Given the description of an element on the screen output the (x, y) to click on. 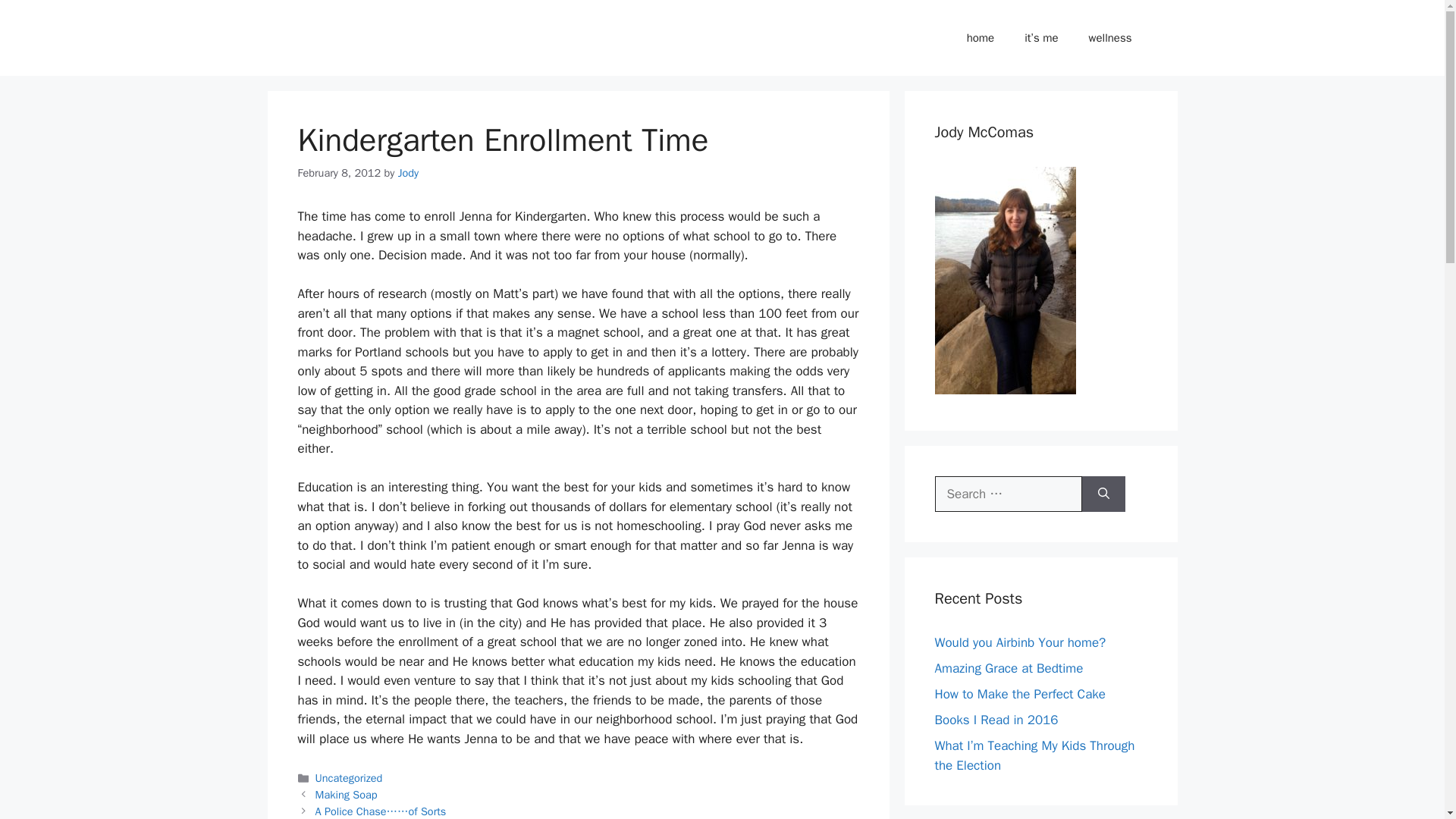
Would you Airbinb Your home? (1019, 642)
home (981, 37)
Jody (408, 172)
Amazing Grace at Bedtime (1008, 668)
Books I Read in 2016 (996, 719)
Search for: (1007, 493)
Making Soap (346, 794)
Uncategorized (348, 777)
wellness (1110, 37)
View all posts by Jody (408, 172)
How to Make the Perfect Cake (1019, 693)
